Given the description of an element on the screen output the (x, y) to click on. 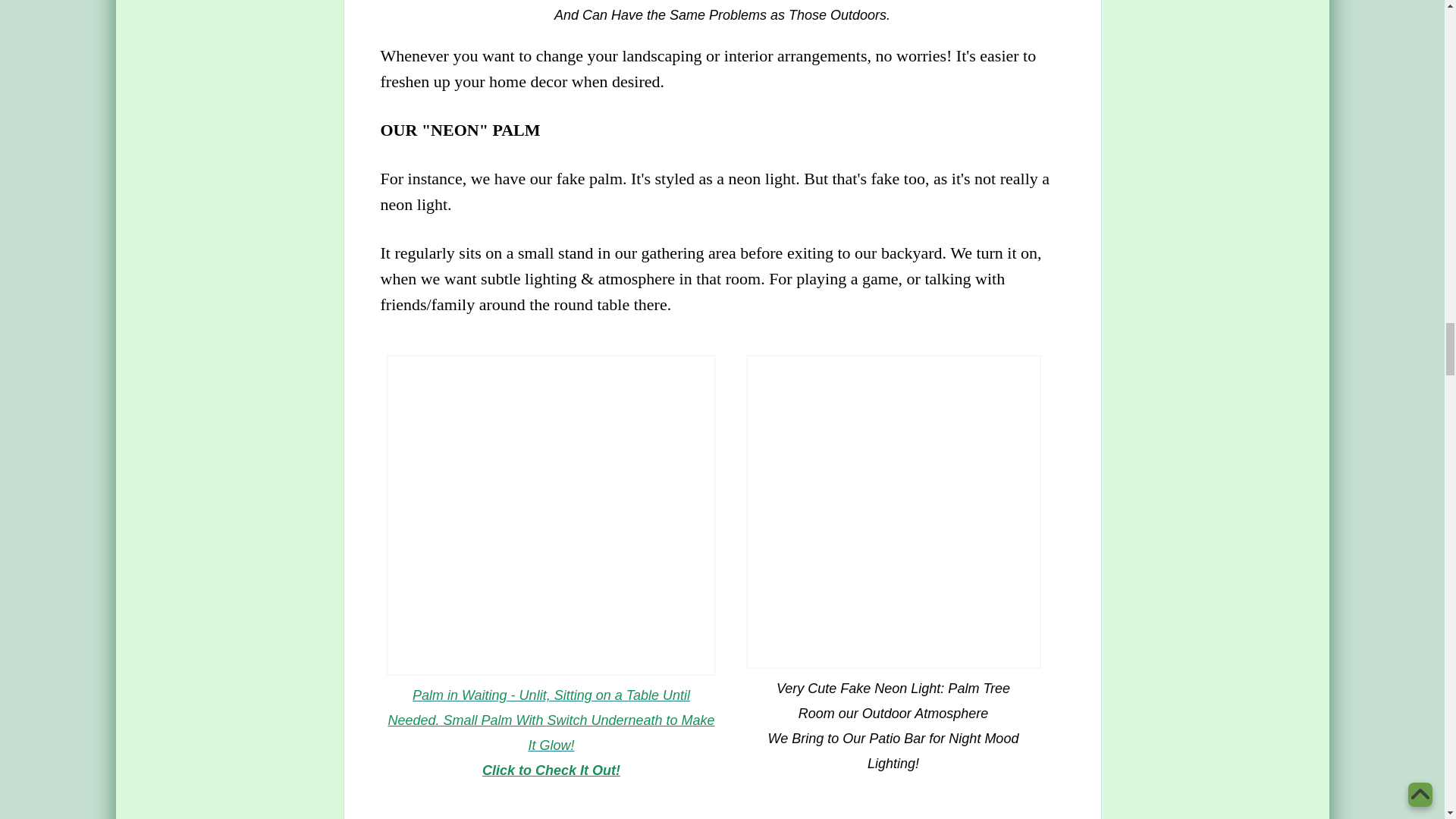
Fake palm tree imitation neon light on a small table. (551, 515)
Cute and colorful faux neon light palm tree. (893, 511)
